Given the description of an element on the screen output the (x, y) to click on. 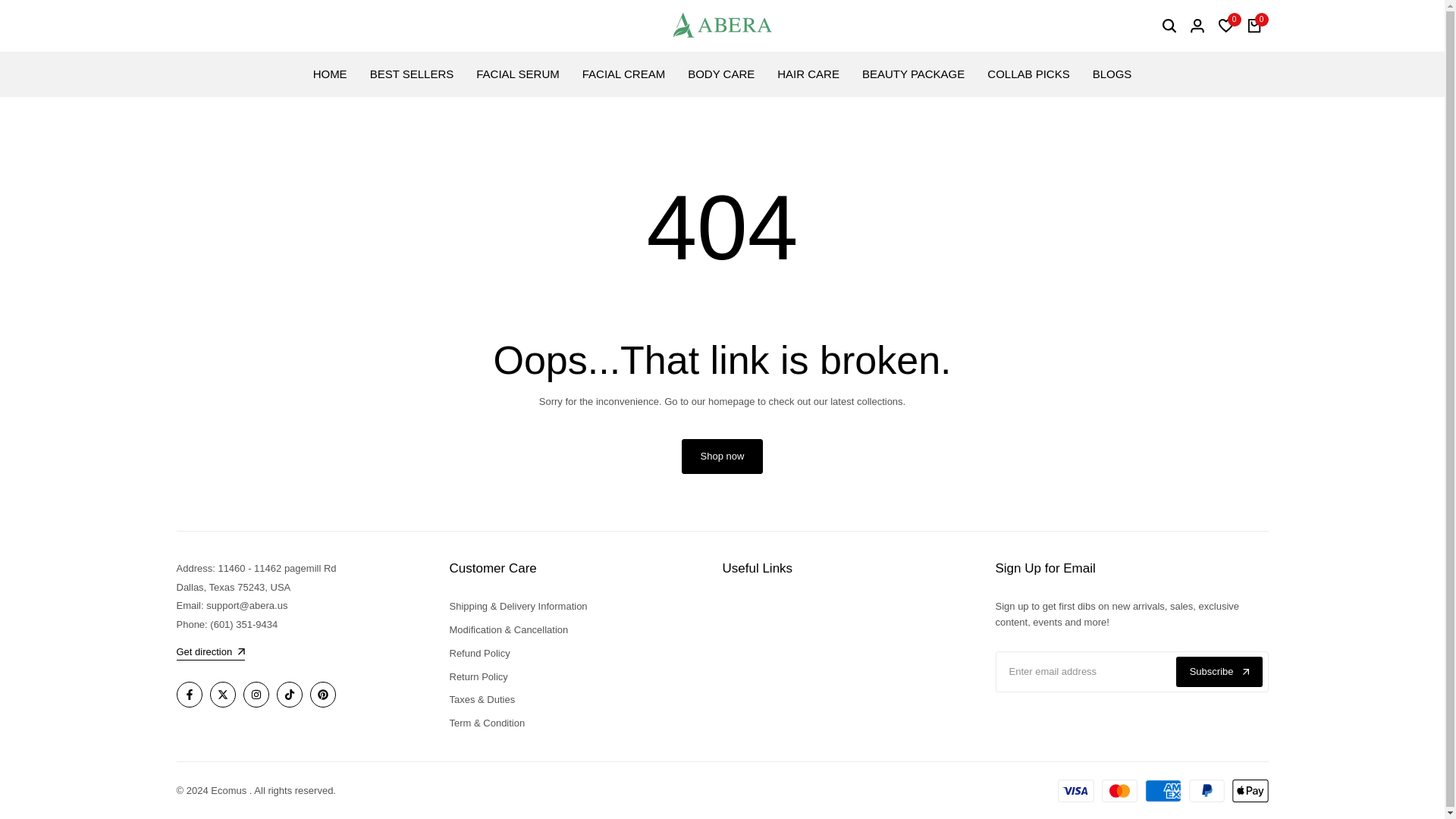
Instagram (255, 694)
0 (1253, 25)
Pinterest (321, 694)
BODY CARE (720, 74)
0 (1225, 25)
FACIAL SERUM (517, 74)
BEST SELLERS (411, 74)
TikTok (288, 694)
Twitter (221, 694)
Shop now (721, 456)
